Given the description of an element on the screen output the (x, y) to click on. 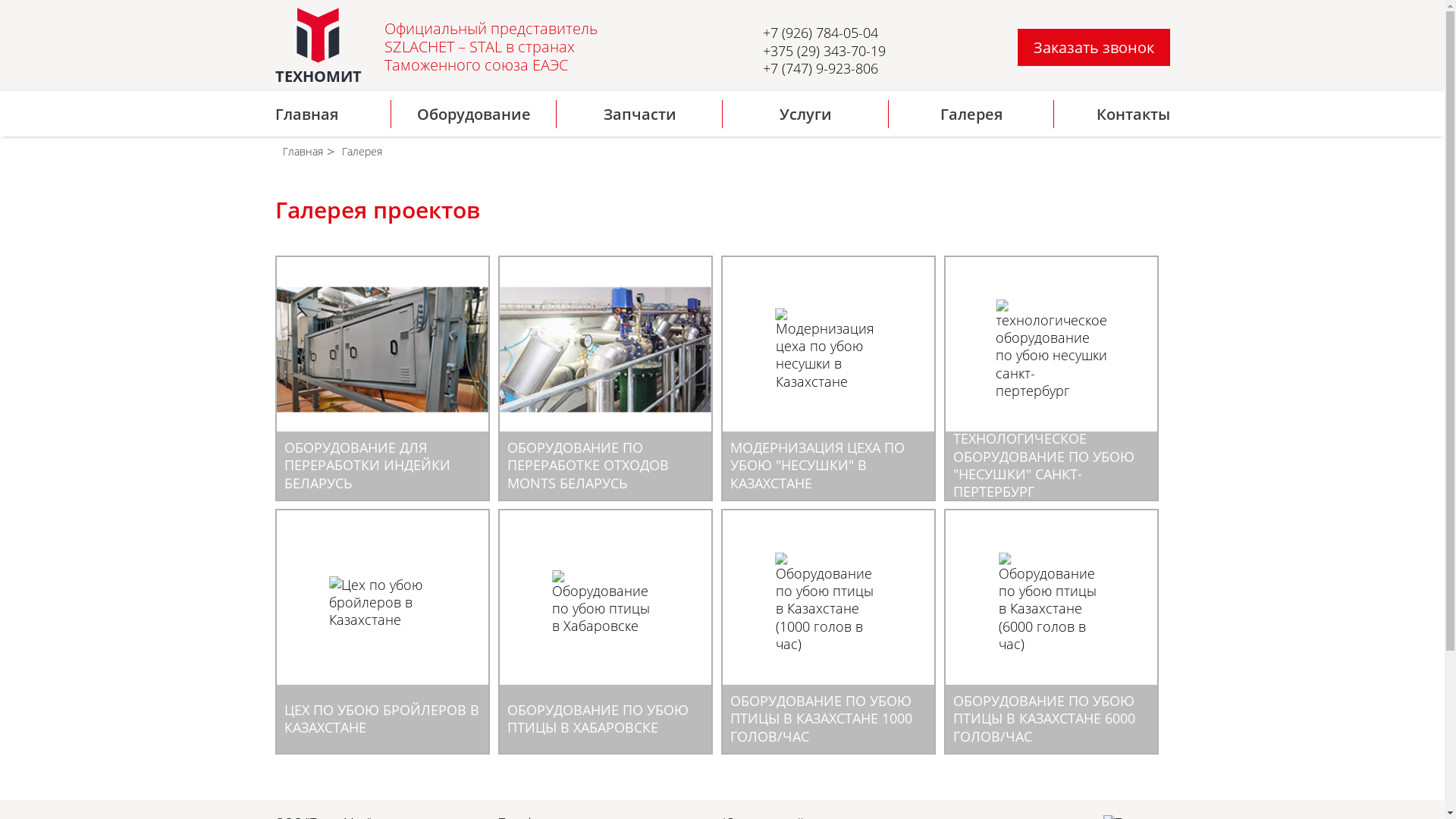
+375 (29) 343-70-19 Element type: text (823, 49)
+7 (926) 784-05-04 Element type: text (820, 32)
+7 (747) 9-923-806 Element type: text (820, 68)
